Given the description of an element on the screen output the (x, y) to click on. 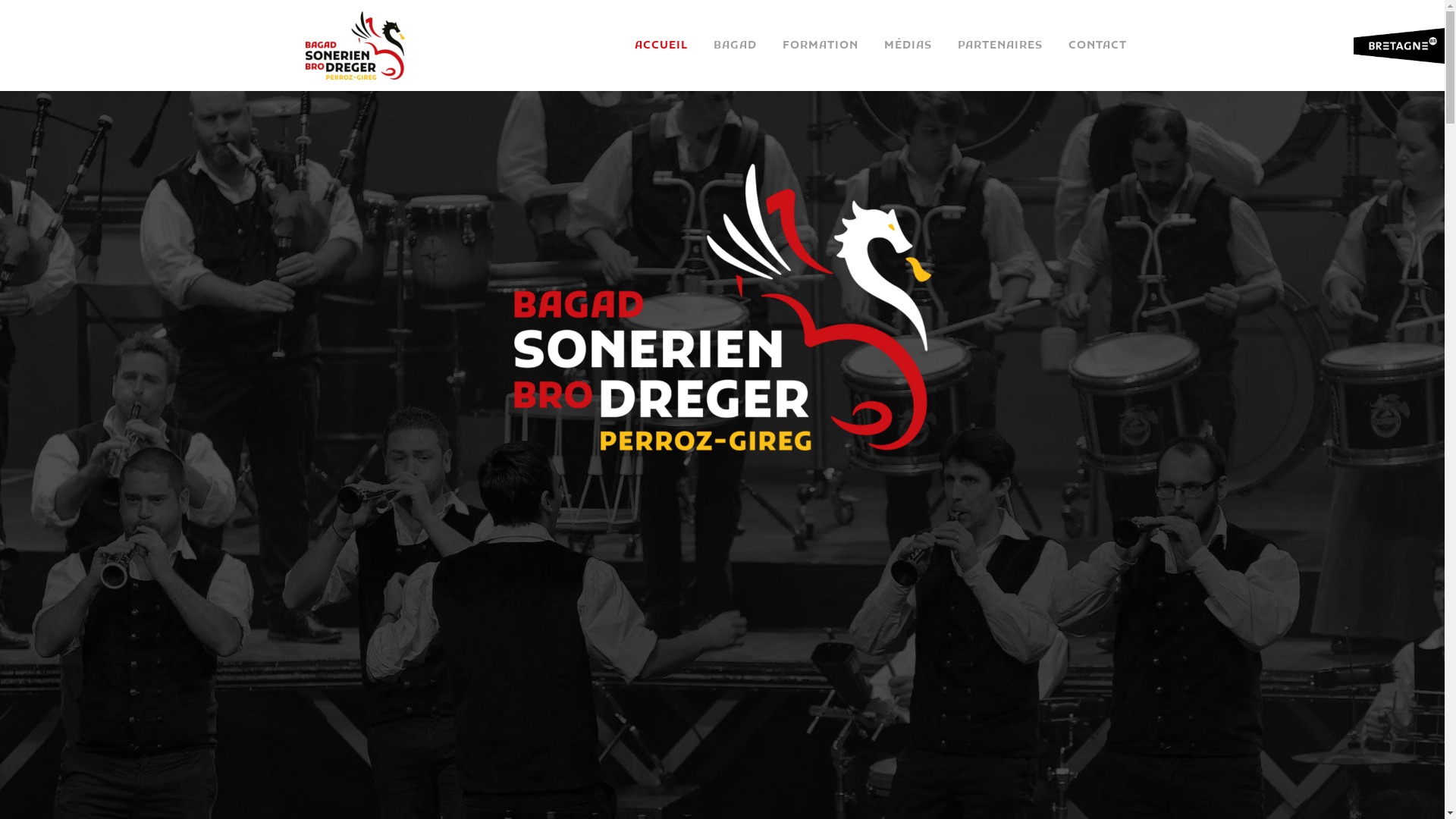
ACCUEIL Element type: text (660, 45)
FORMATION Element type: text (819, 45)
BAGAD Element type: text (734, 45)
CONTACT Element type: text (1097, 45)
PARTENAIRES Element type: text (999, 45)
